Given the description of an element on the screen output the (x, y) to click on. 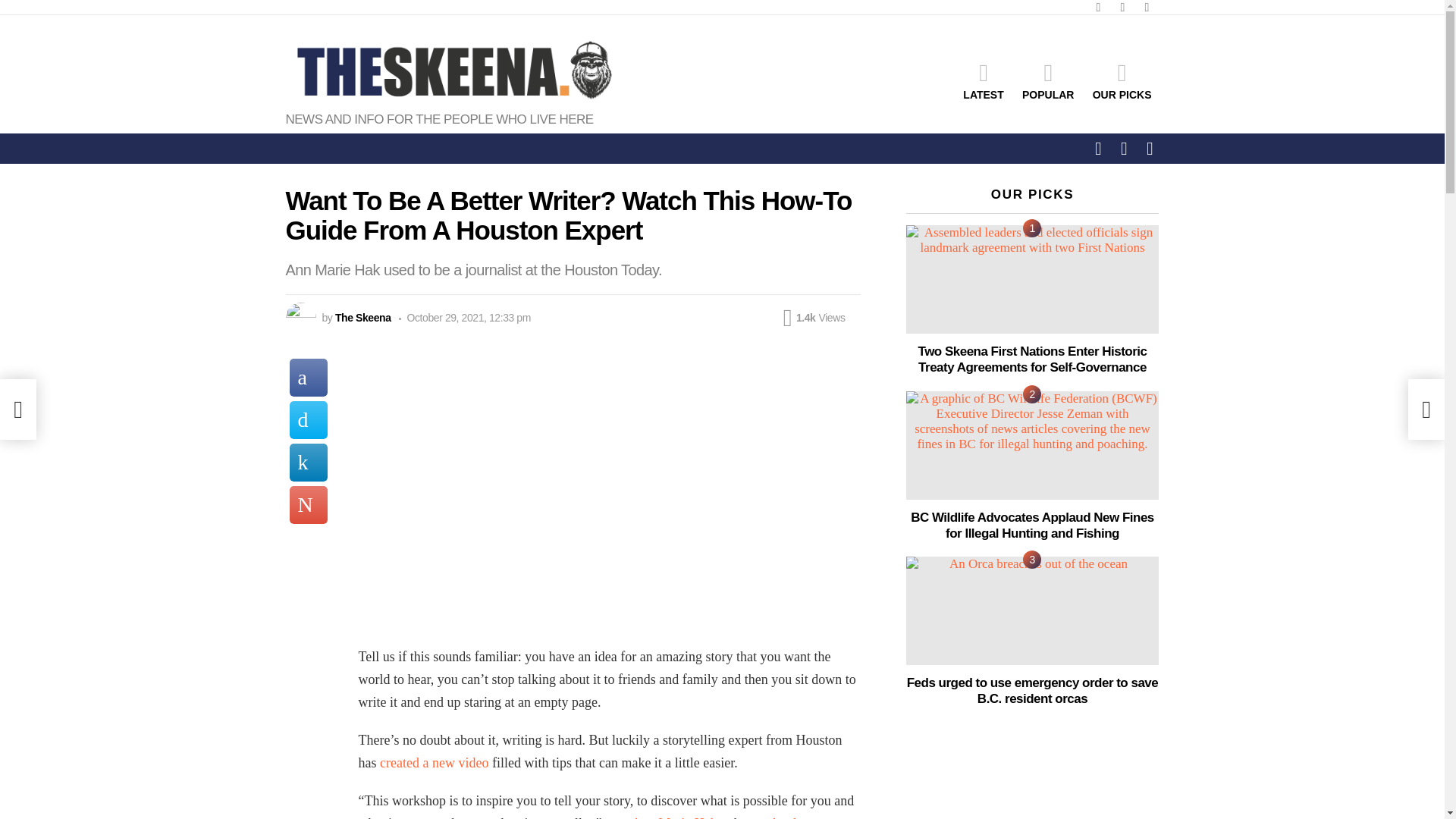
The Skeena (362, 317)
Ann Marie Hak (674, 817)
POPULAR (1047, 80)
OUR PICKS (1121, 80)
facebook (1097, 7)
Share on Gmail (308, 505)
Share on LinkedIn (308, 462)
Share on Twitter (308, 419)
instagram (1146, 7)
Posts by The Skeena (362, 317)
twitter (1121, 7)
Share on Facebook (308, 377)
created a new video (433, 762)
